Given the description of an element on the screen output the (x, y) to click on. 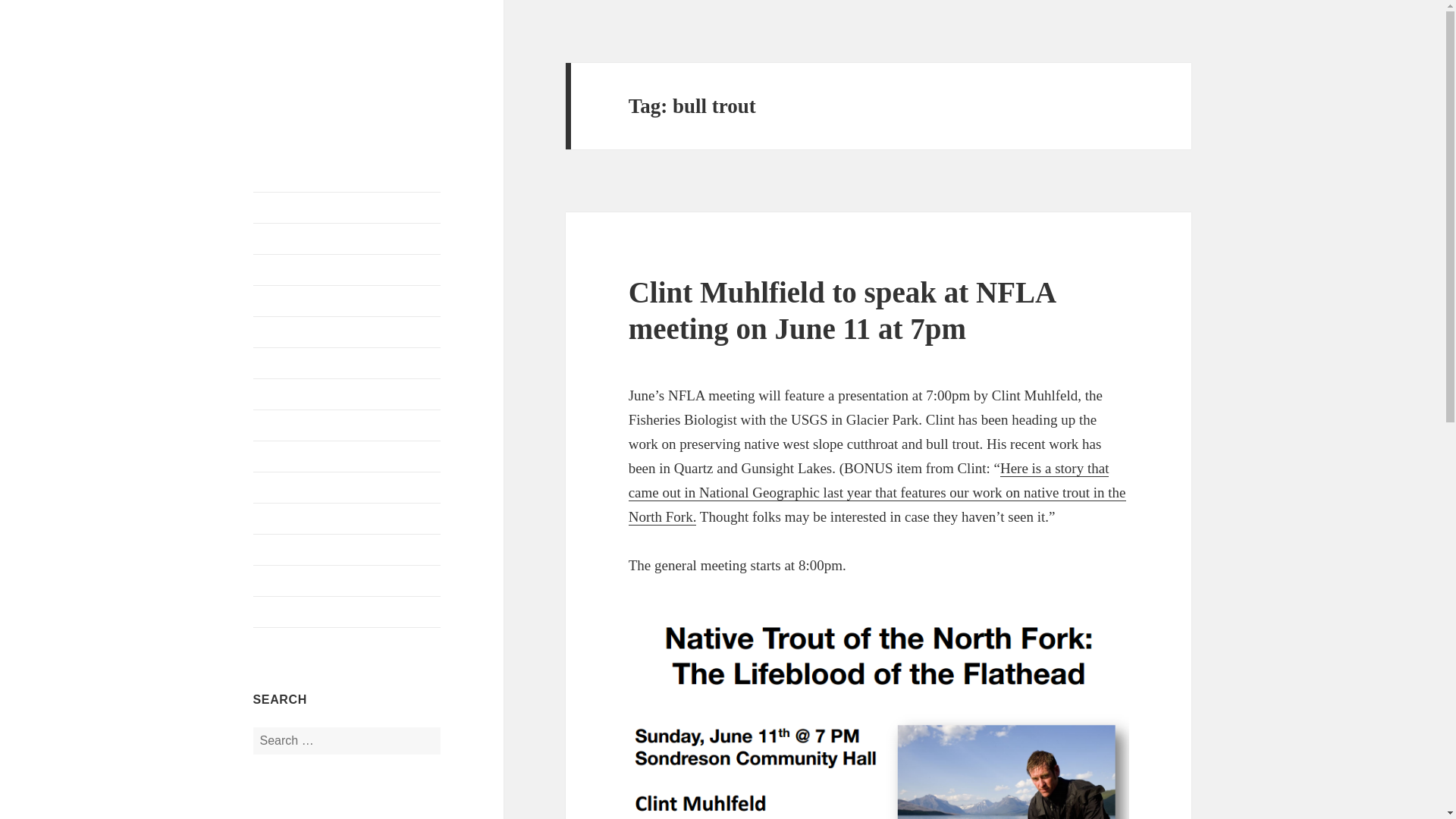
Social Committee (347, 456)
Weeds Committee (347, 487)
About the NFLA (347, 269)
Welcome and Sunshine Committees (347, 363)
North Fork Zoning Regulations (347, 612)
Newsletters (347, 580)
Sondreson Community Hall (347, 518)
Fire Mitigation Committee (347, 394)
NFLA (280, 74)
North Fork Patrol (347, 549)
NFLA Calendar (347, 238)
Join the NFLA (347, 300)
